Given the description of an element on the screen output the (x, y) to click on. 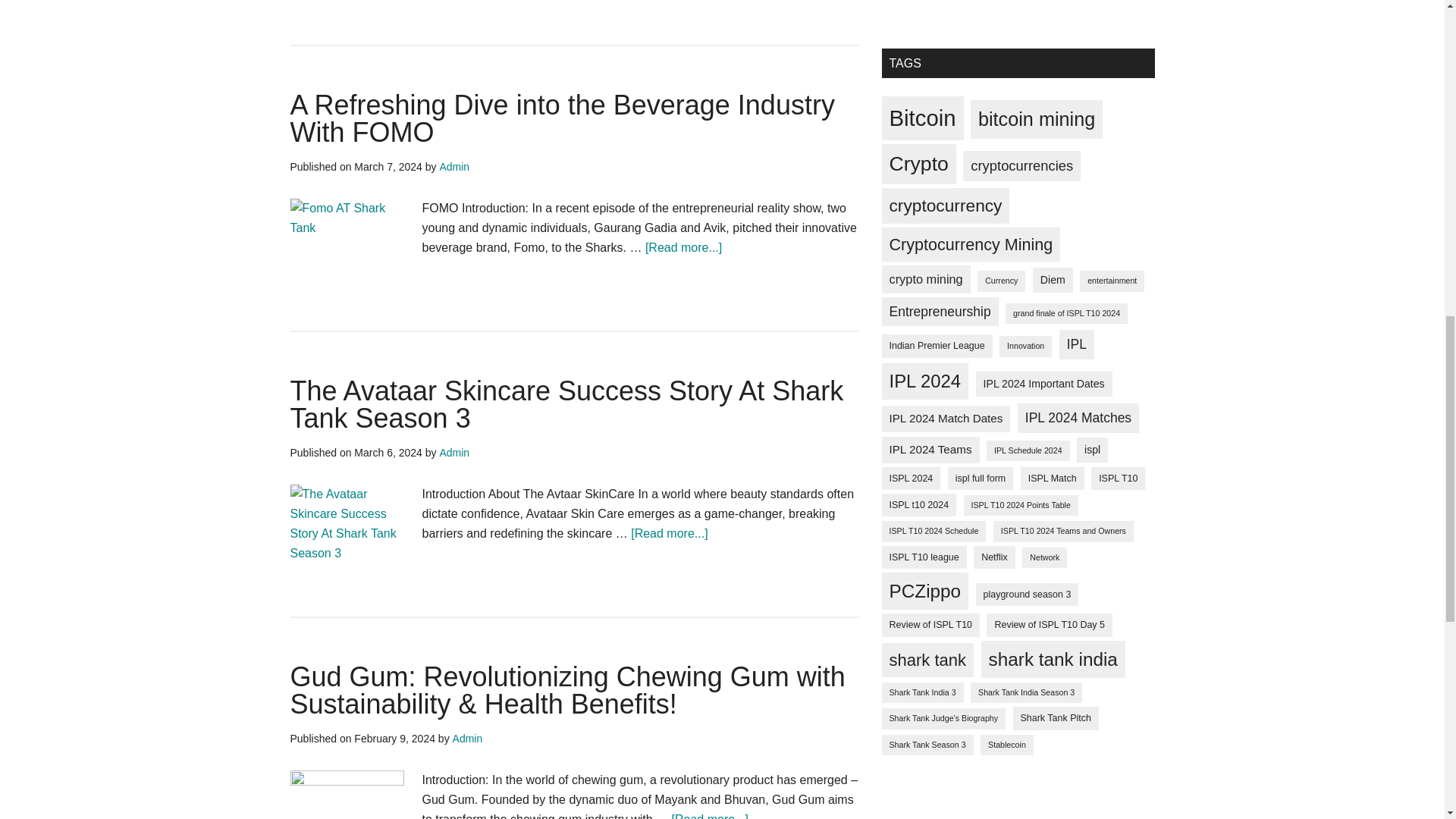
Admin (453, 166)
Admin (467, 738)
The Avataar Skincare Success Story At Shark Tank Season 3 (566, 404)
Admin (453, 452)
A Refreshing Dive into the Beverage Industry With FOMO (561, 118)
